Given the description of an element on the screen output the (x, y) to click on. 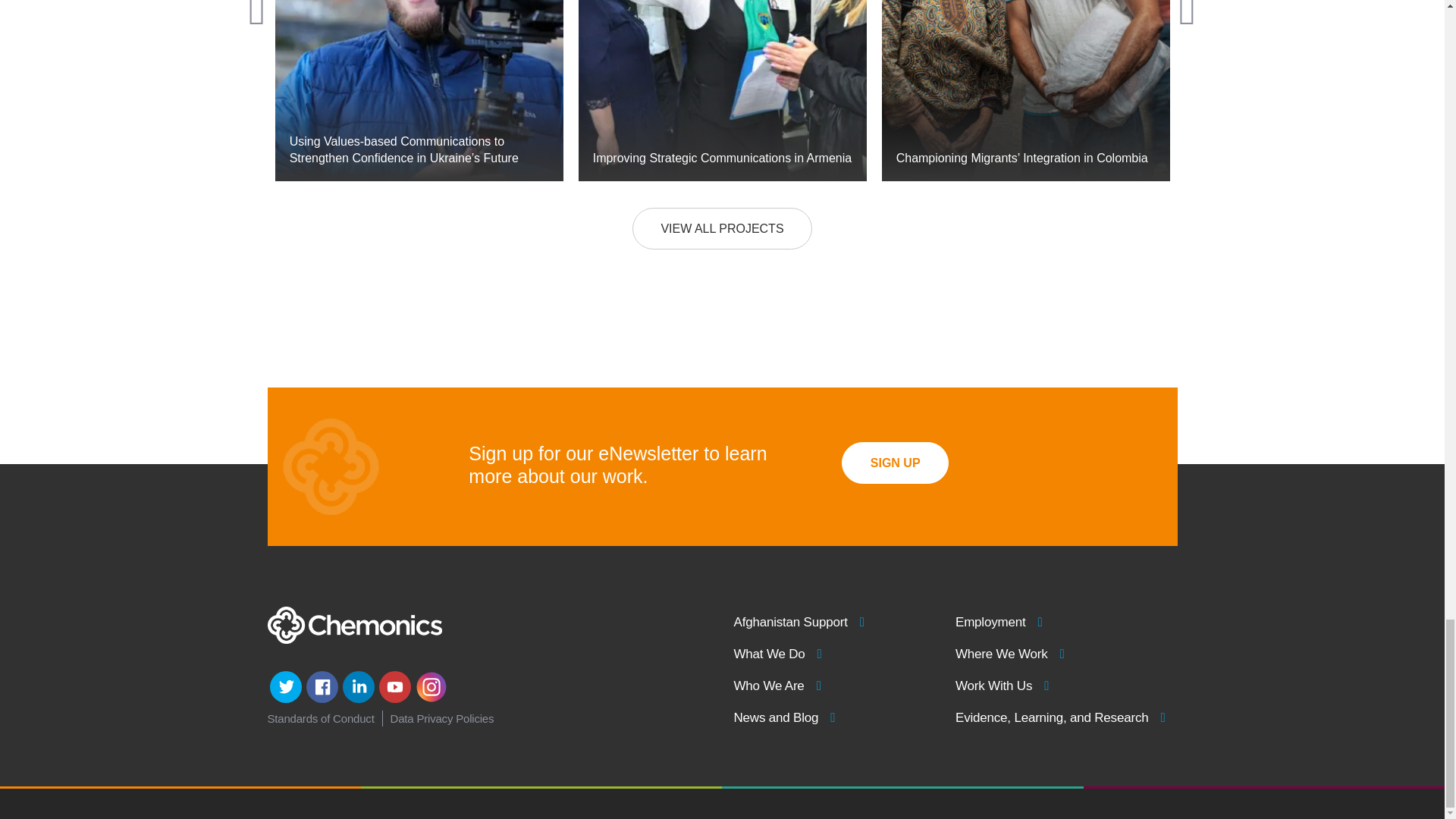
Improving Strategic Communications in Armenia (722, 90)
